Given the description of an element on the screen output the (x, y) to click on. 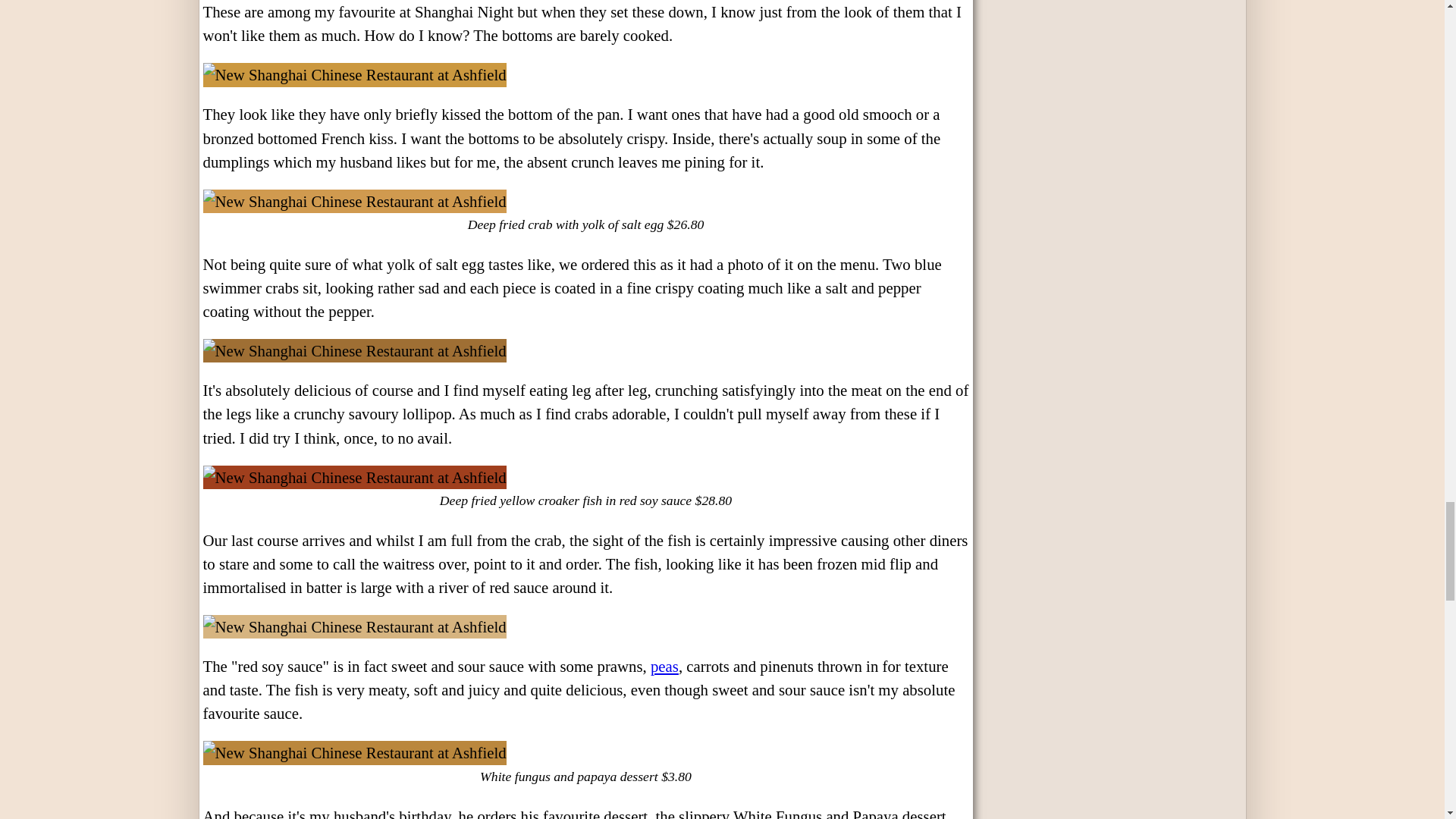
peas (664, 665)
